Given the description of an element on the screen output the (x, y) to click on. 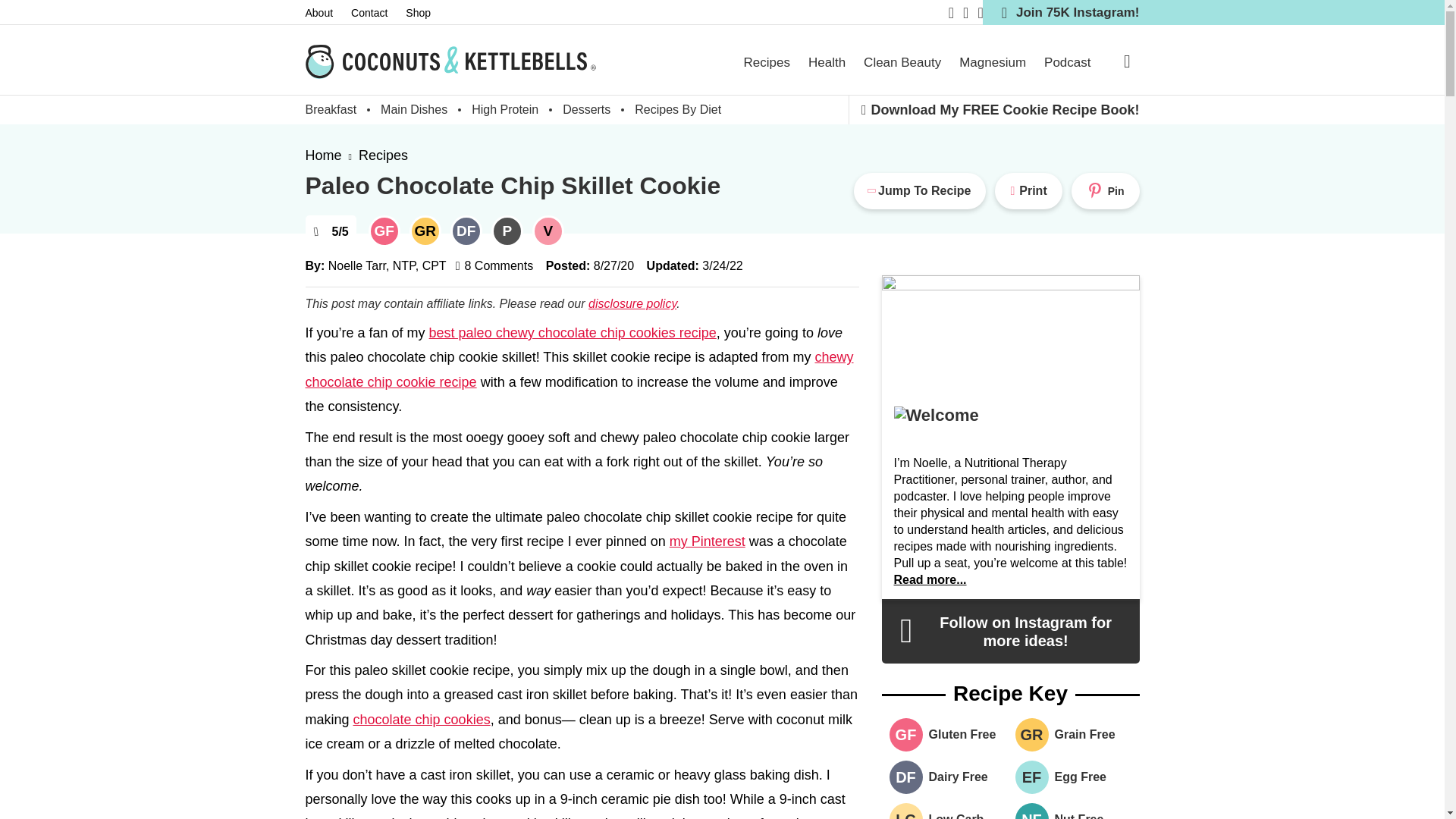
Join 75K Instagram! (1061, 12)
Contact (378, 12)
Shop (427, 12)
Health (826, 62)
Recipes (767, 62)
About (327, 12)
Save to Pinterest (1105, 190)
